Given the description of an element on the screen output the (x, y) to click on. 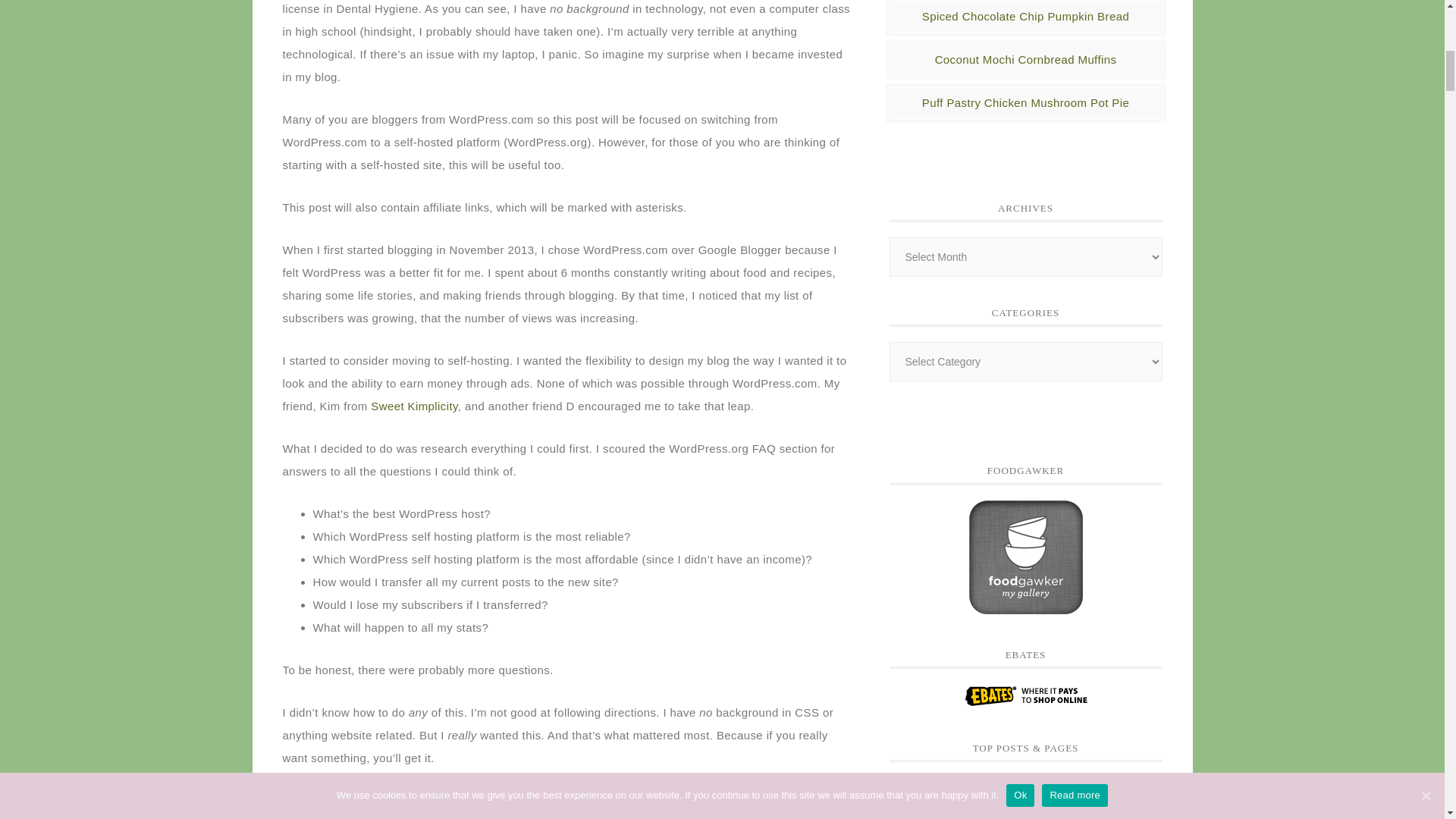
Sweet Kimplicity (414, 405)
my foodgawker gallery (1026, 606)
Gochujang Cucumbers (955, 798)
Coconut Ice Cream (1093, 798)
